Given the description of an element on the screen output the (x, y) to click on. 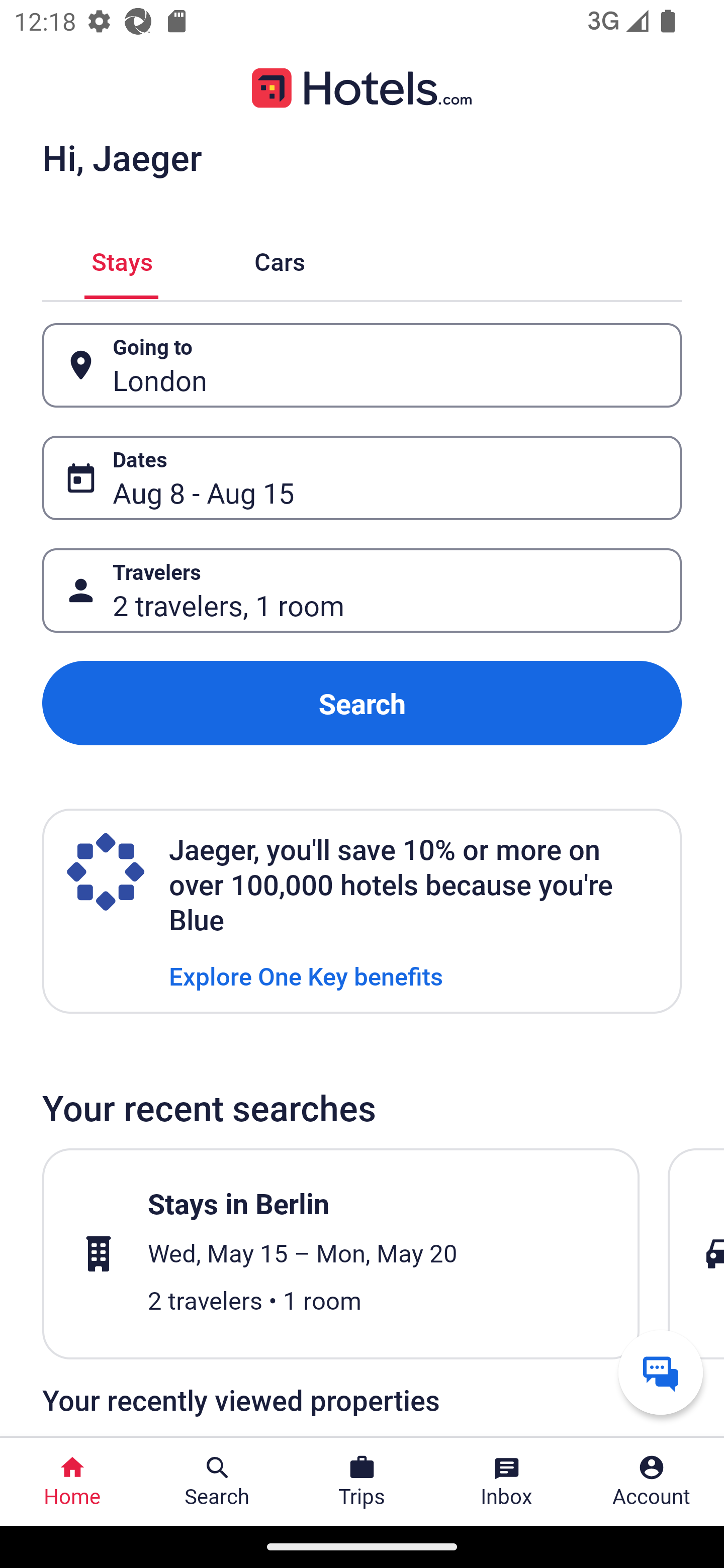
Hi, Jaeger (121, 156)
Cars (279, 259)
Going to Button London (361, 365)
Dates Button Aug 8 - Aug 15 (361, 477)
Travelers Button 2 travelers, 1 room (361, 590)
Search (361, 702)
Get help from a virtual agent (660, 1371)
Search Search Button (216, 1481)
Trips Trips Button (361, 1481)
Inbox Inbox Button (506, 1481)
Account Profile. Button (651, 1481)
